Given the description of an element on the screen output the (x, y) to click on. 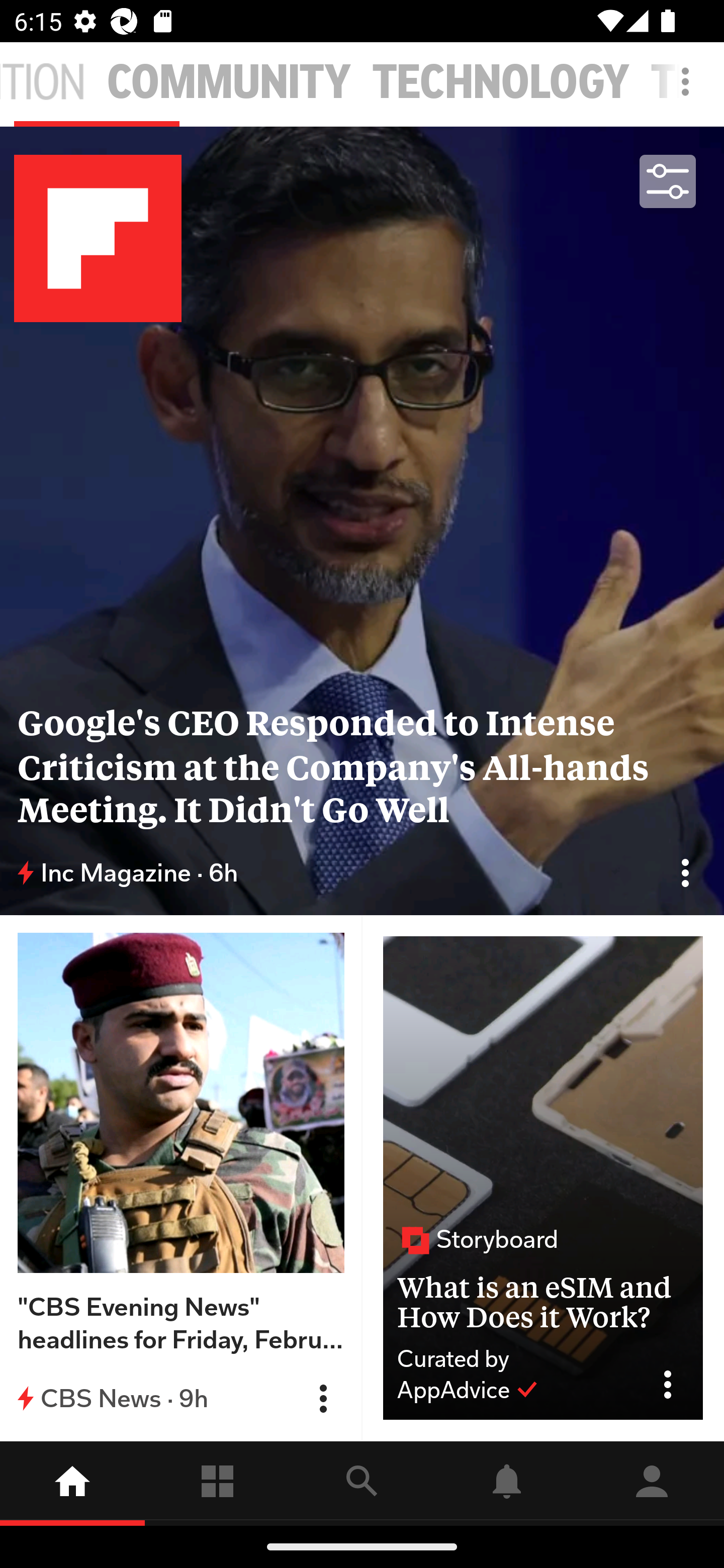
COMMUNITY (229, 82)
TECHNOLOGY (500, 82)
TRAVEL (687, 82)
Inc Magazine · 6h Flip into Magazine (362, 873)
Flip into Magazine (685, 872)
Curated by (514, 1359)
Share (674, 1385)
CBS News · 9h Flip into Magazine (181, 1398)
Flip into Magazine (323, 1398)
AppAdvice (467, 1389)
home (72, 1482)
Following (216, 1482)
explore (361, 1482)
Notifications (506, 1482)
Profile (651, 1482)
